Given the description of an element on the screen output the (x, y) to click on. 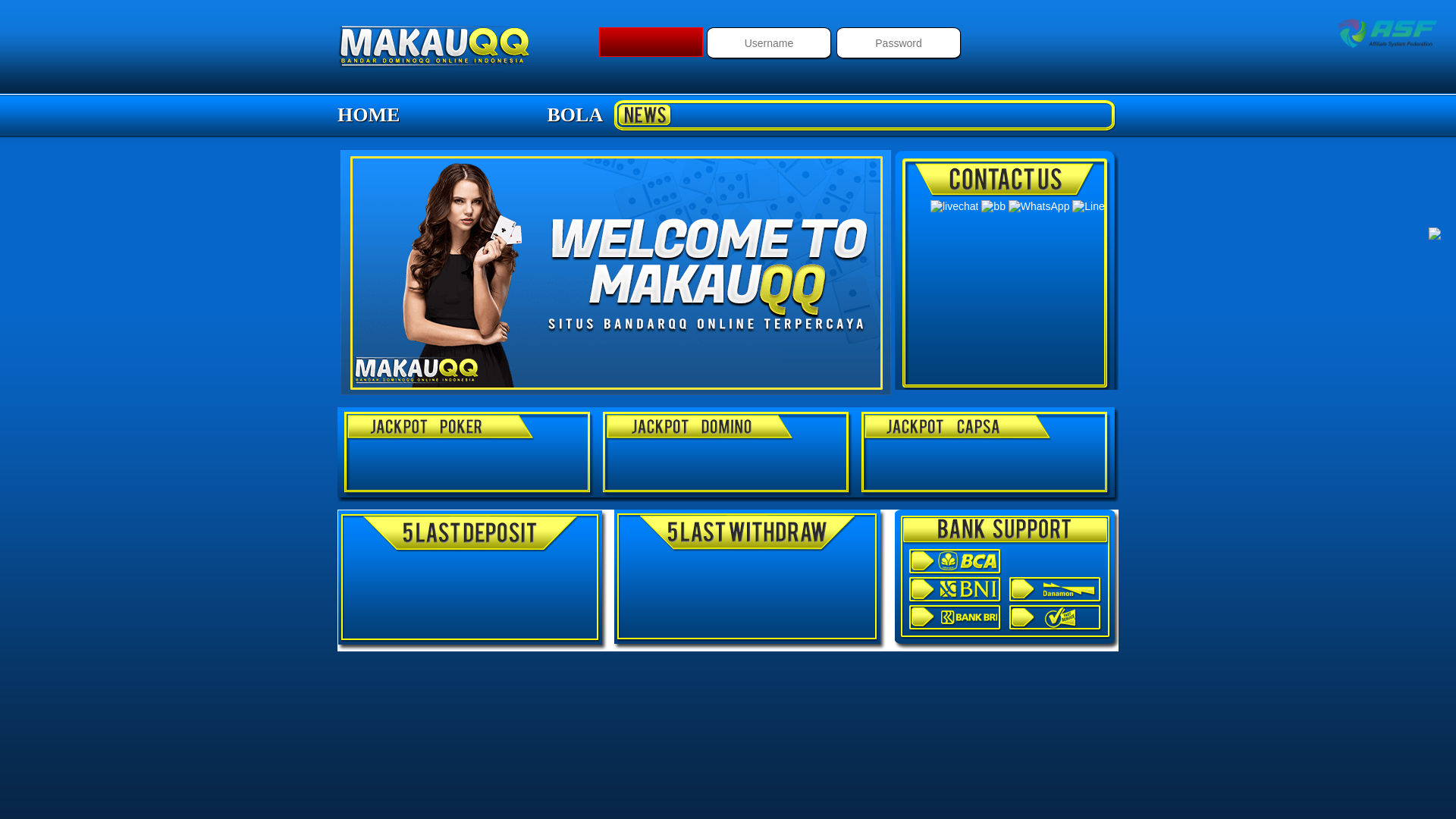
365QiuQiu Element type: hover (433, 45)
BOLA Element type: text (575, 115)
HOME Element type: text (368, 115)
